Given the description of an element on the screen output the (x, y) to click on. 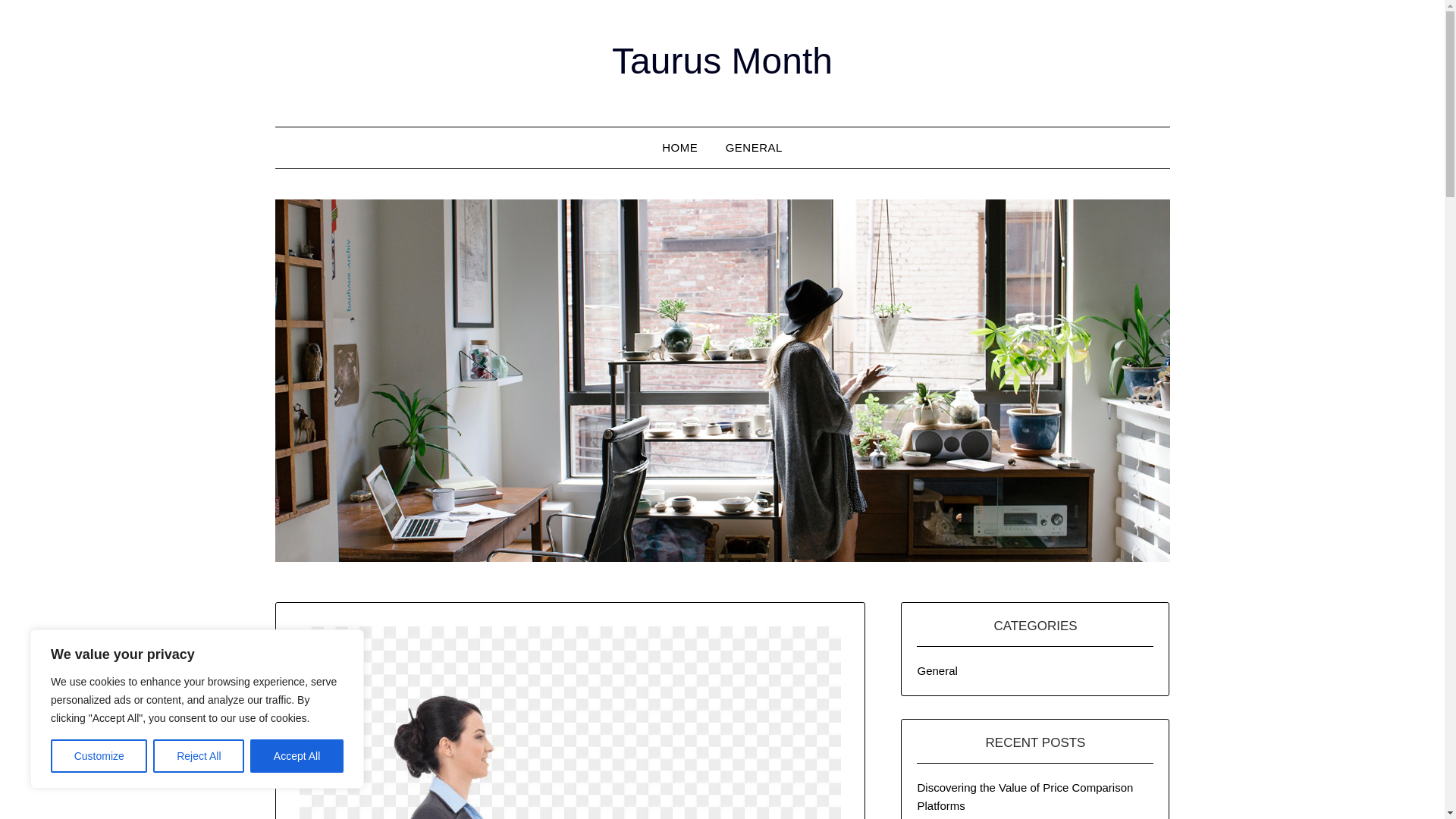
General (936, 670)
Discovering the Value of Price Comparison Platforms (1024, 796)
Reject All (198, 756)
Customize (98, 756)
HOME (679, 147)
Taurus Month (721, 60)
Accept All (296, 756)
GENERAL (753, 147)
